Given the description of an element on the screen output the (x, y) to click on. 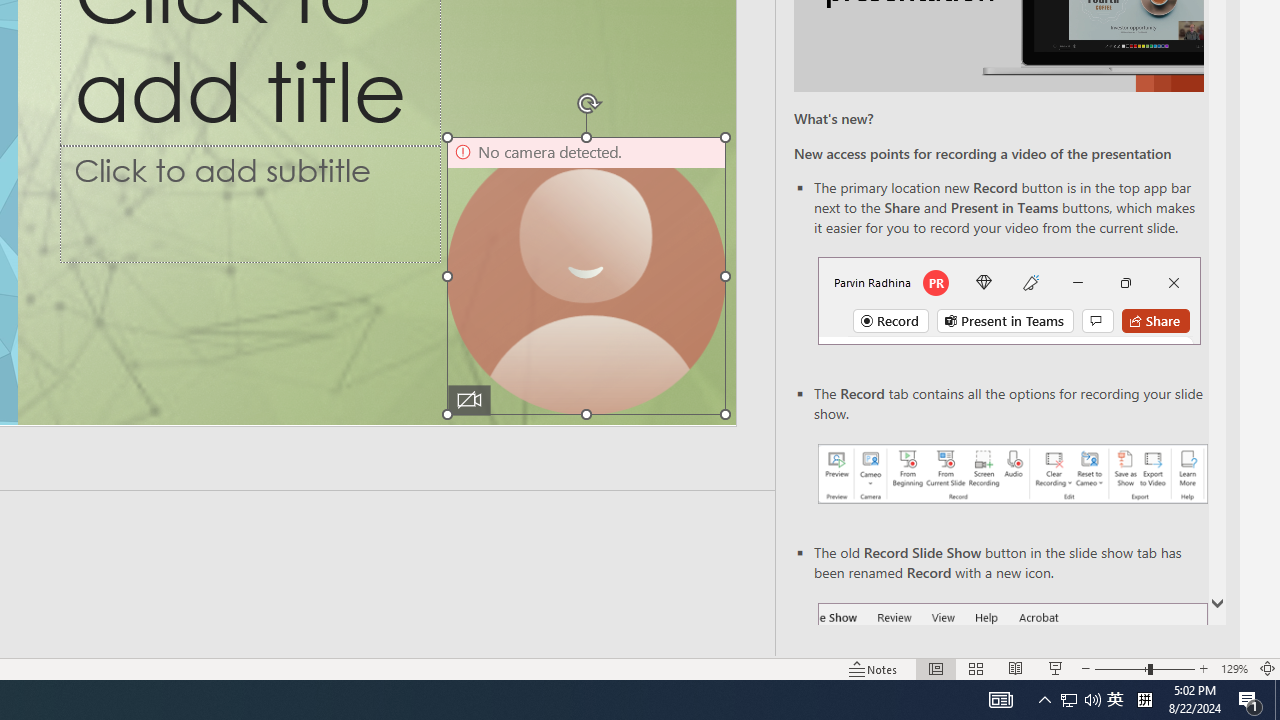
Zoom 129% (1234, 668)
Record your presentations screenshot one (1012, 473)
Zoom Out (1121, 668)
Camera 9, No camera detected. (586, 275)
Subtitle TextBox (250, 203)
Record button in top bar (1008, 300)
Zoom In (1204, 668)
Notes  (874, 668)
